Given the description of an element on the screen output the (x, y) to click on. 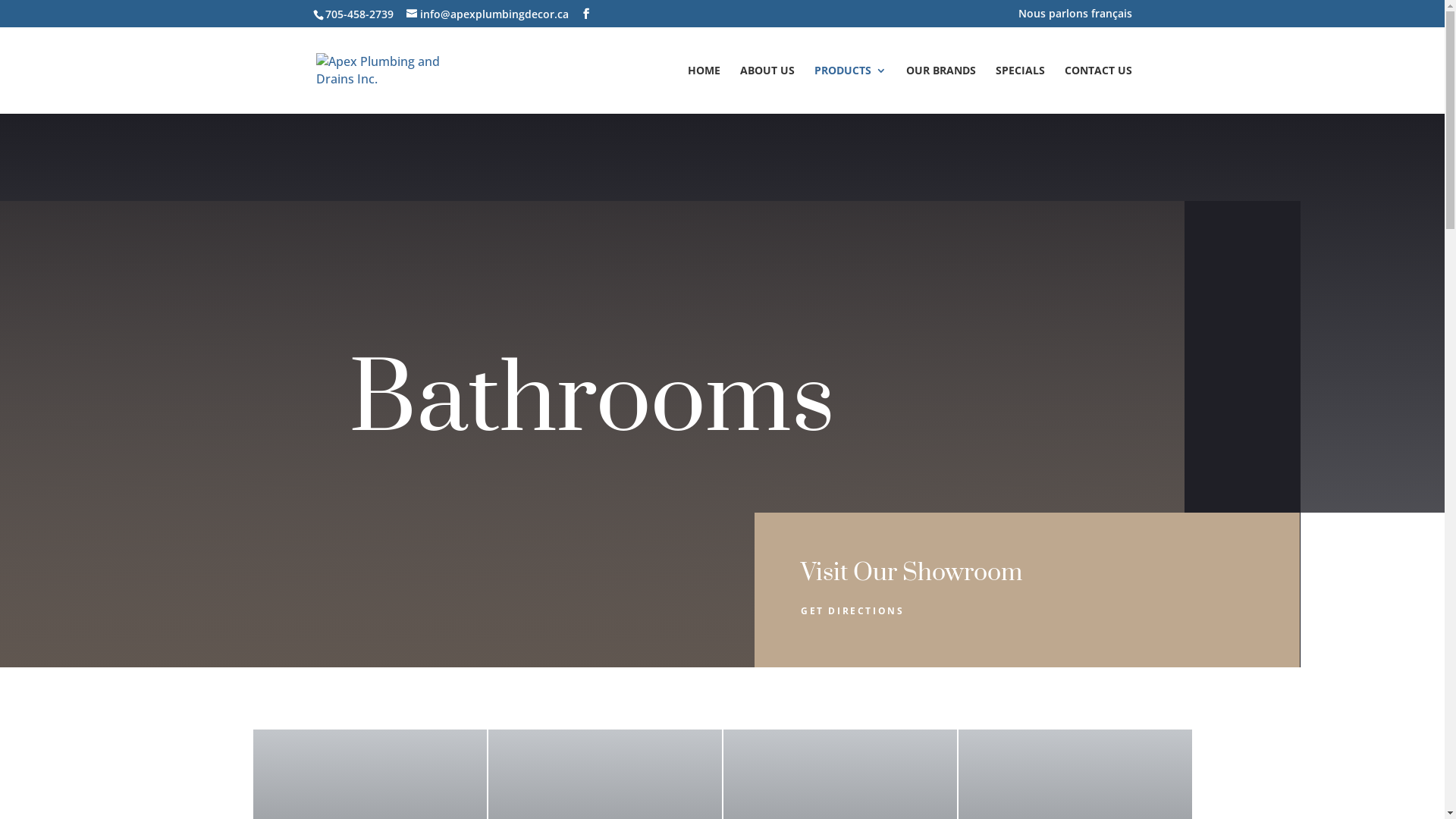
OUR BRANDS Element type: text (940, 89)
SPECIALS Element type: text (1019, 89)
HOME Element type: text (703, 89)
CONTACT US Element type: text (1098, 89)
PRODUCTS Element type: text (850, 89)
705-458-2739 Element type: text (357, 13)
info@apexplumbingdecor.ca Element type: text (487, 13)
GET DIRECTIONS Element type: text (856, 610)
ABOUT US Element type: text (767, 89)
